Given the description of an element on the screen output the (x, y) to click on. 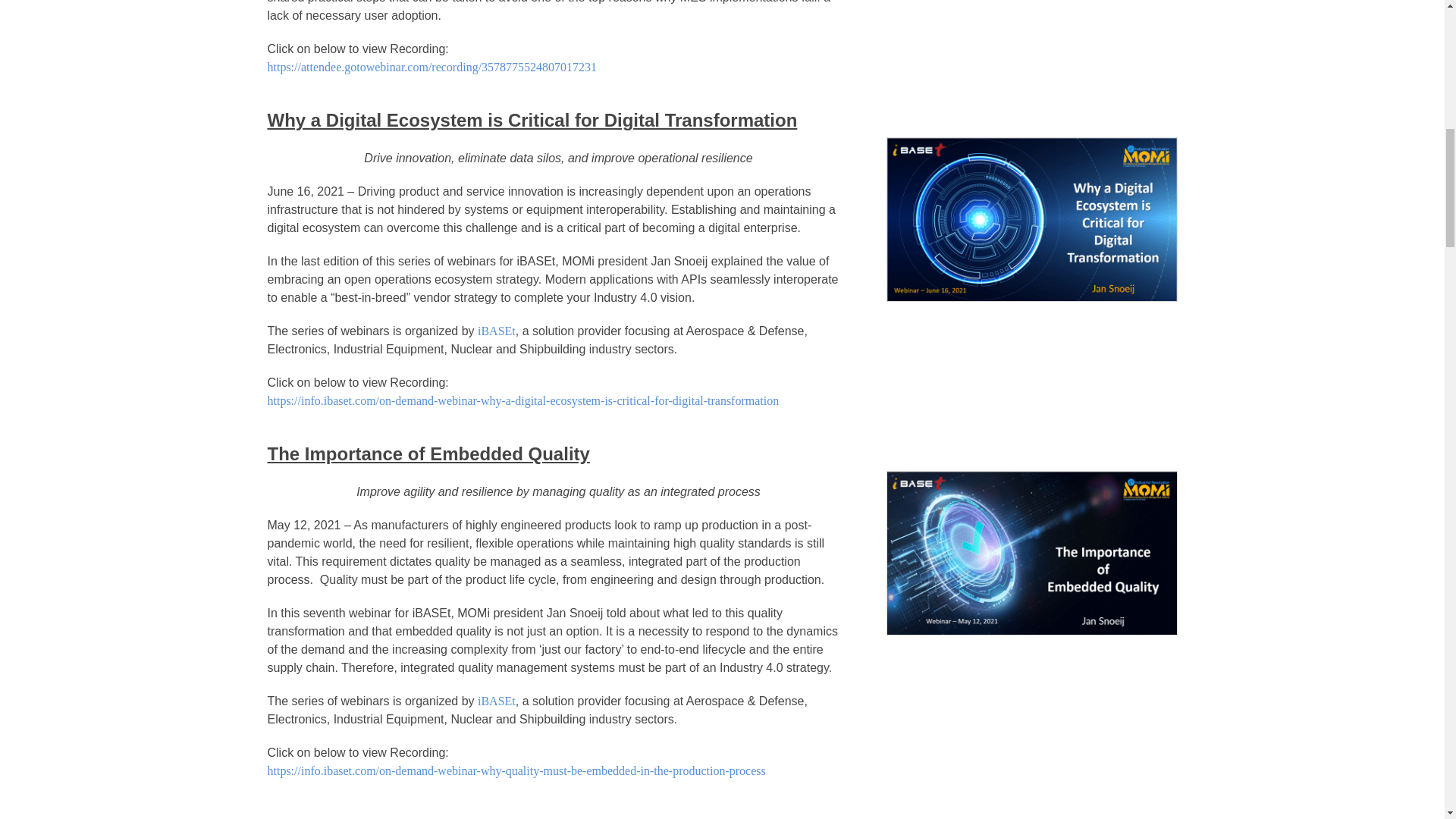
Webinar: Importance of Embedded Quality (1031, 552)
